Given the description of an element on the screen output the (x, y) to click on. 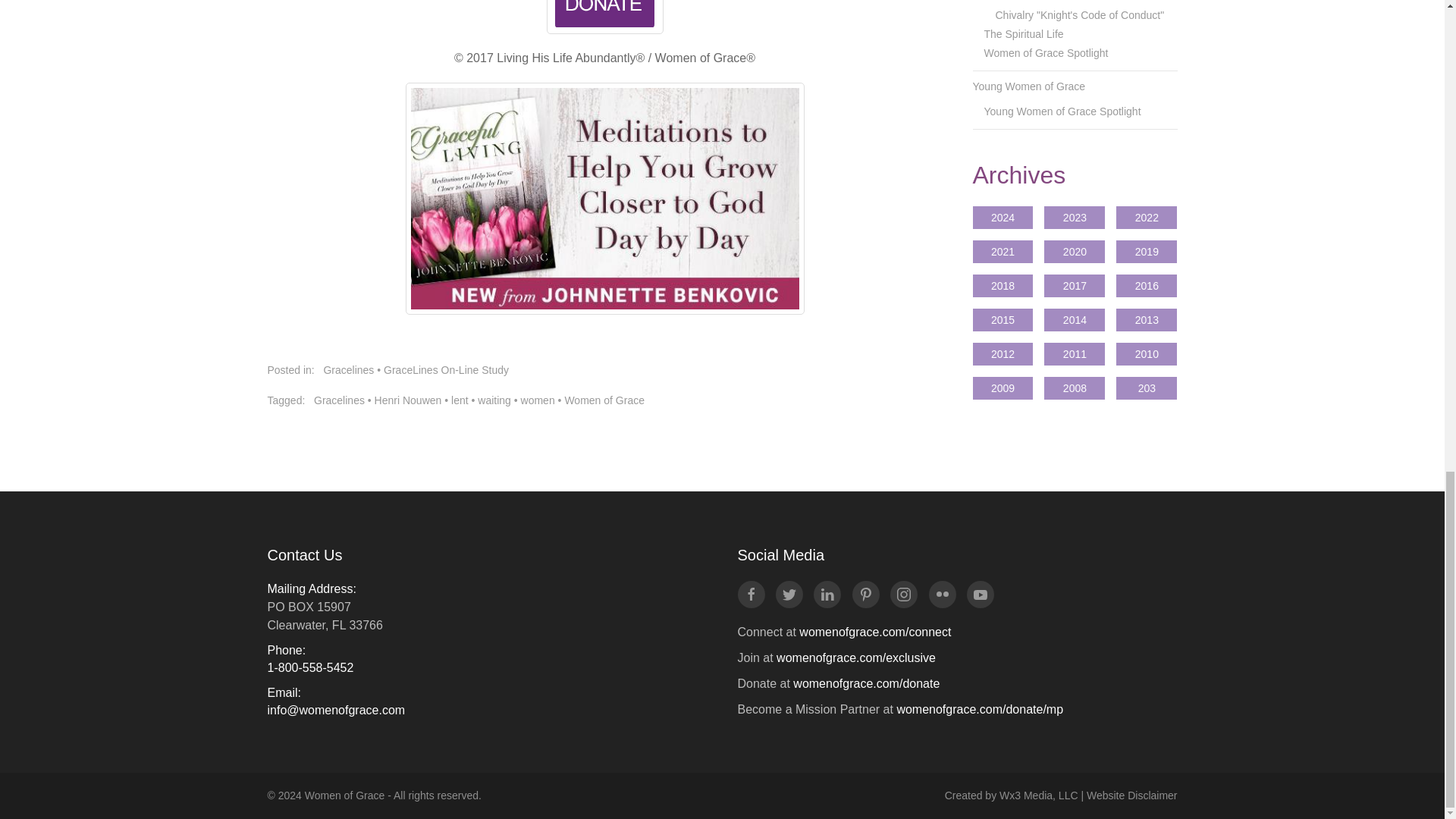
Gracelines (348, 369)
women (537, 399)
Women of Grace (604, 399)
GraceLines On-Line Study (446, 369)
Henri Nouwen (408, 399)
lent (459, 399)
waiting (494, 399)
Gracelines (339, 399)
